Given the description of an element on the screen output the (x, y) to click on. 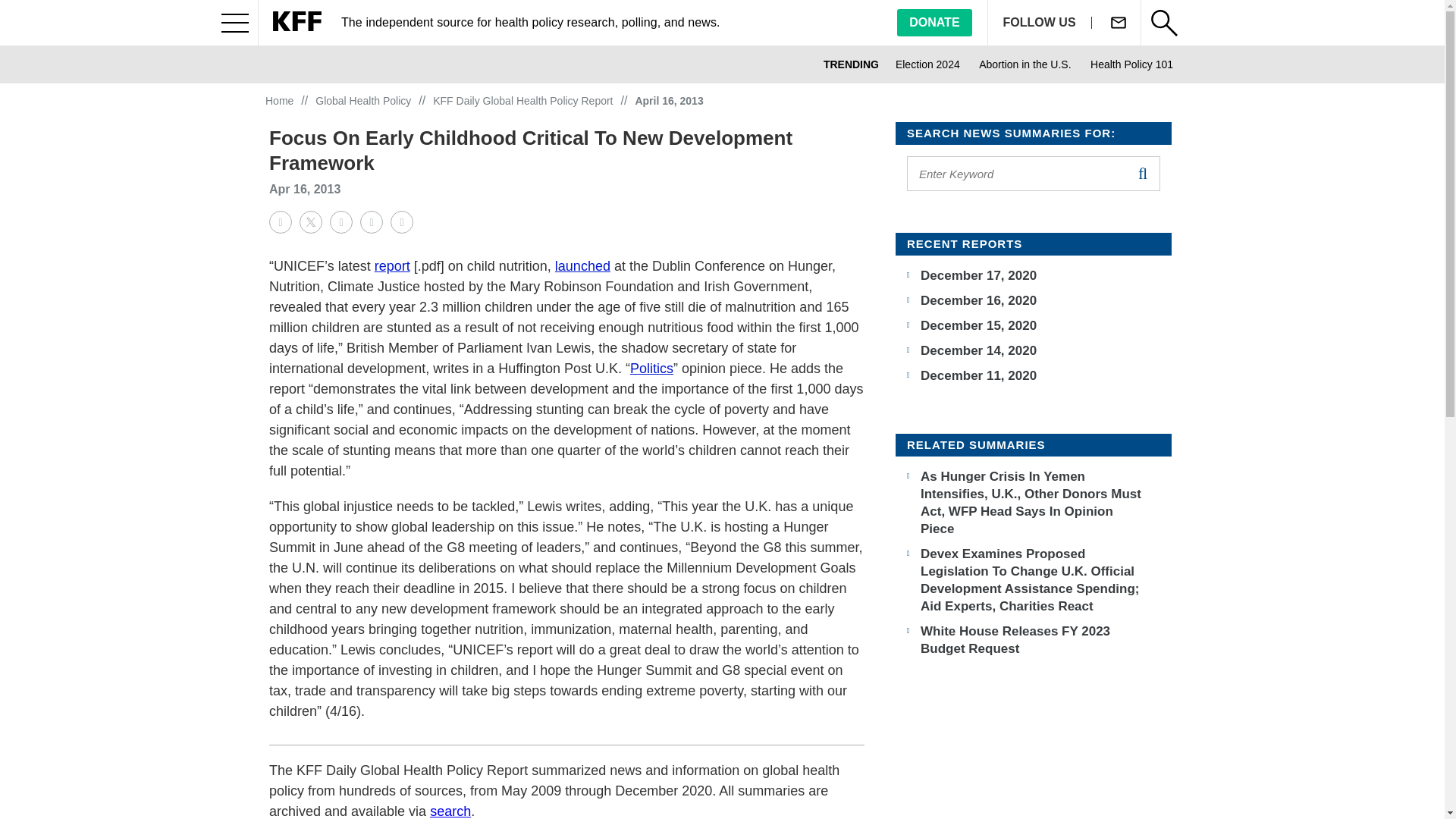
search (1141, 173)
